Given the description of an element on the screen output the (x, y) to click on. 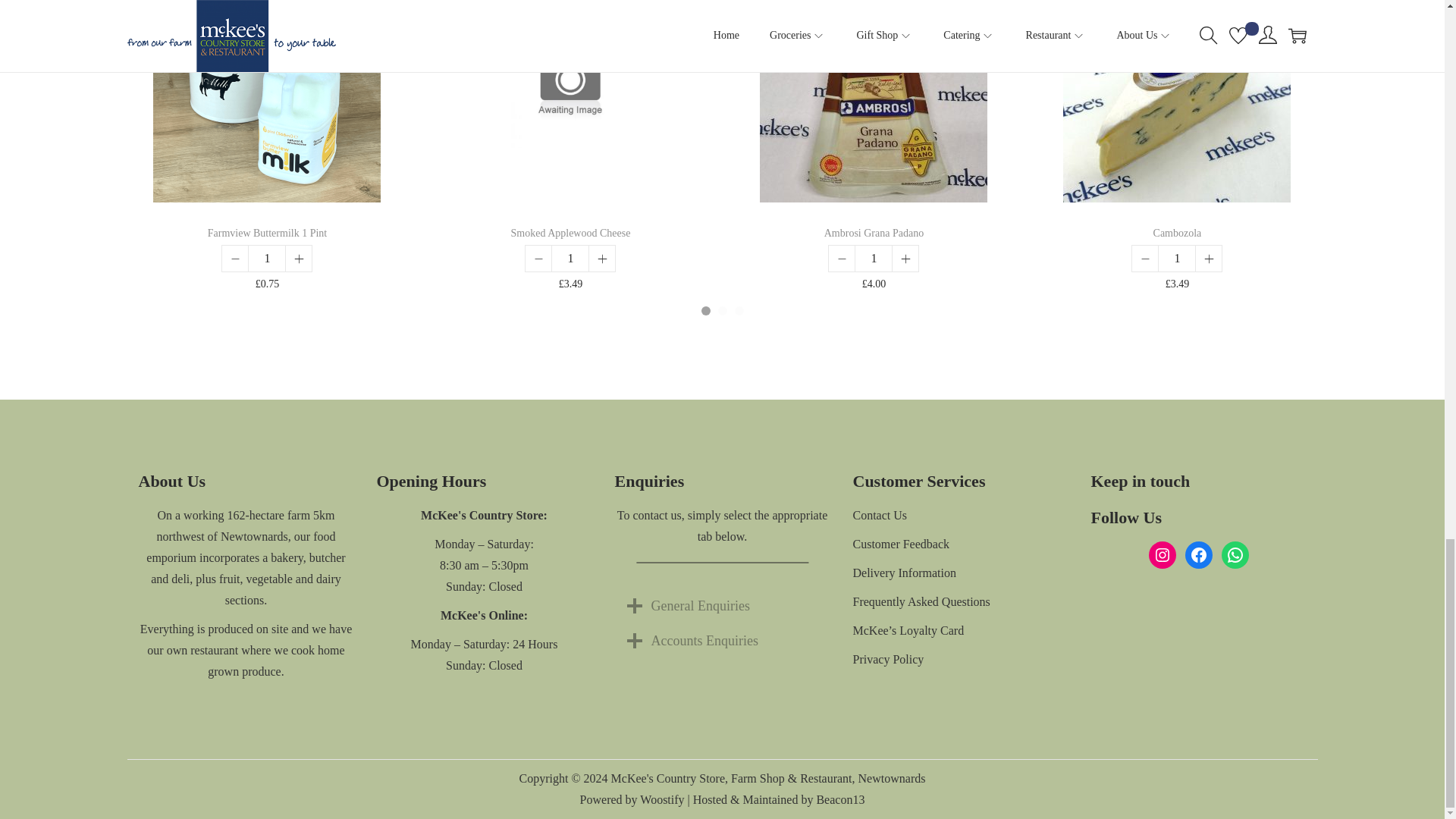
1 (266, 258)
1 (569, 258)
1 (873, 258)
1 (1176, 258)
